Given the description of an element on the screen output the (x, y) to click on. 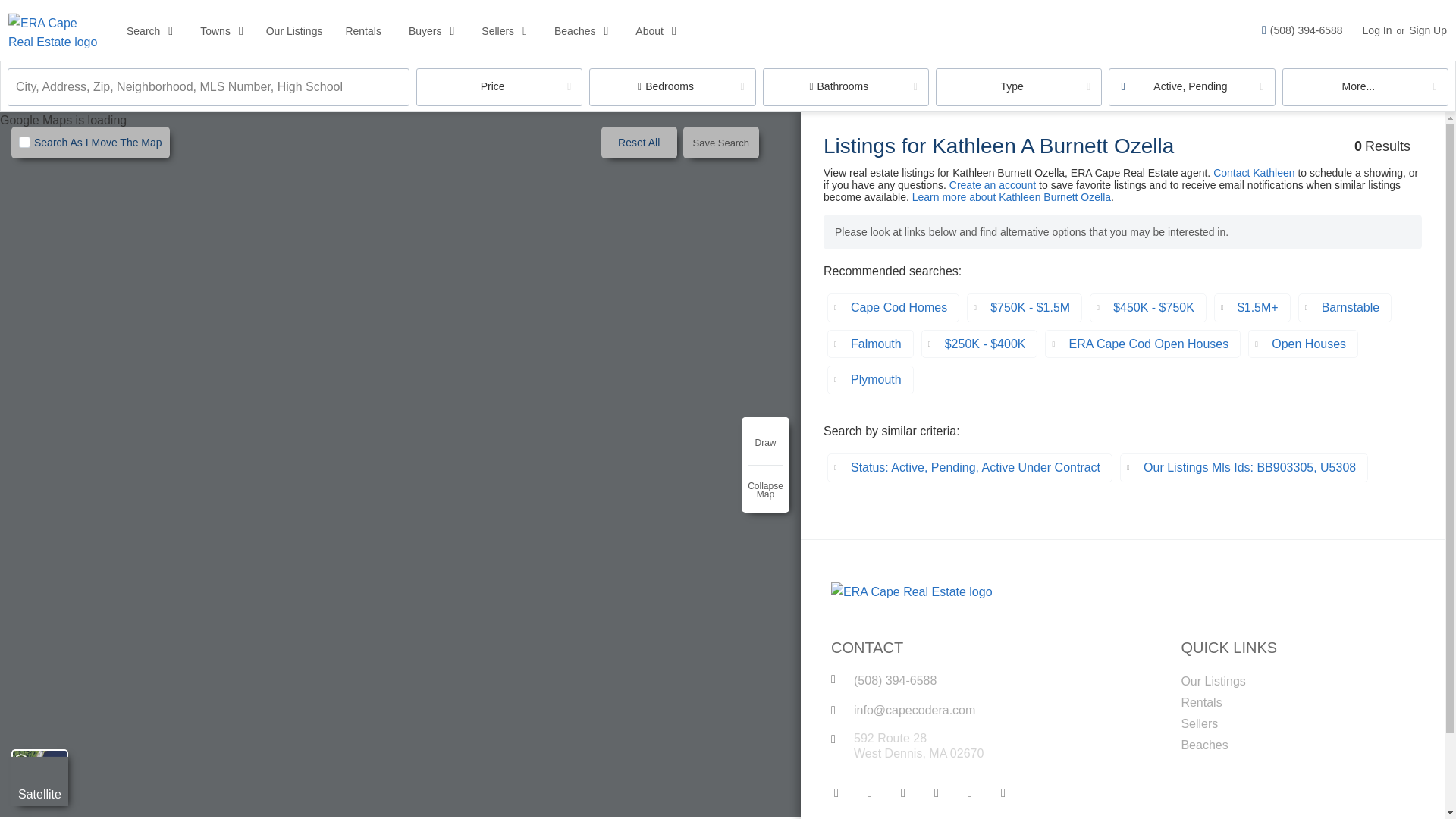
Our Listings (294, 30)
Search (143, 30)
Rentals (362, 30)
Buyers (425, 30)
